Given the description of an element on the screen output the (x, y) to click on. 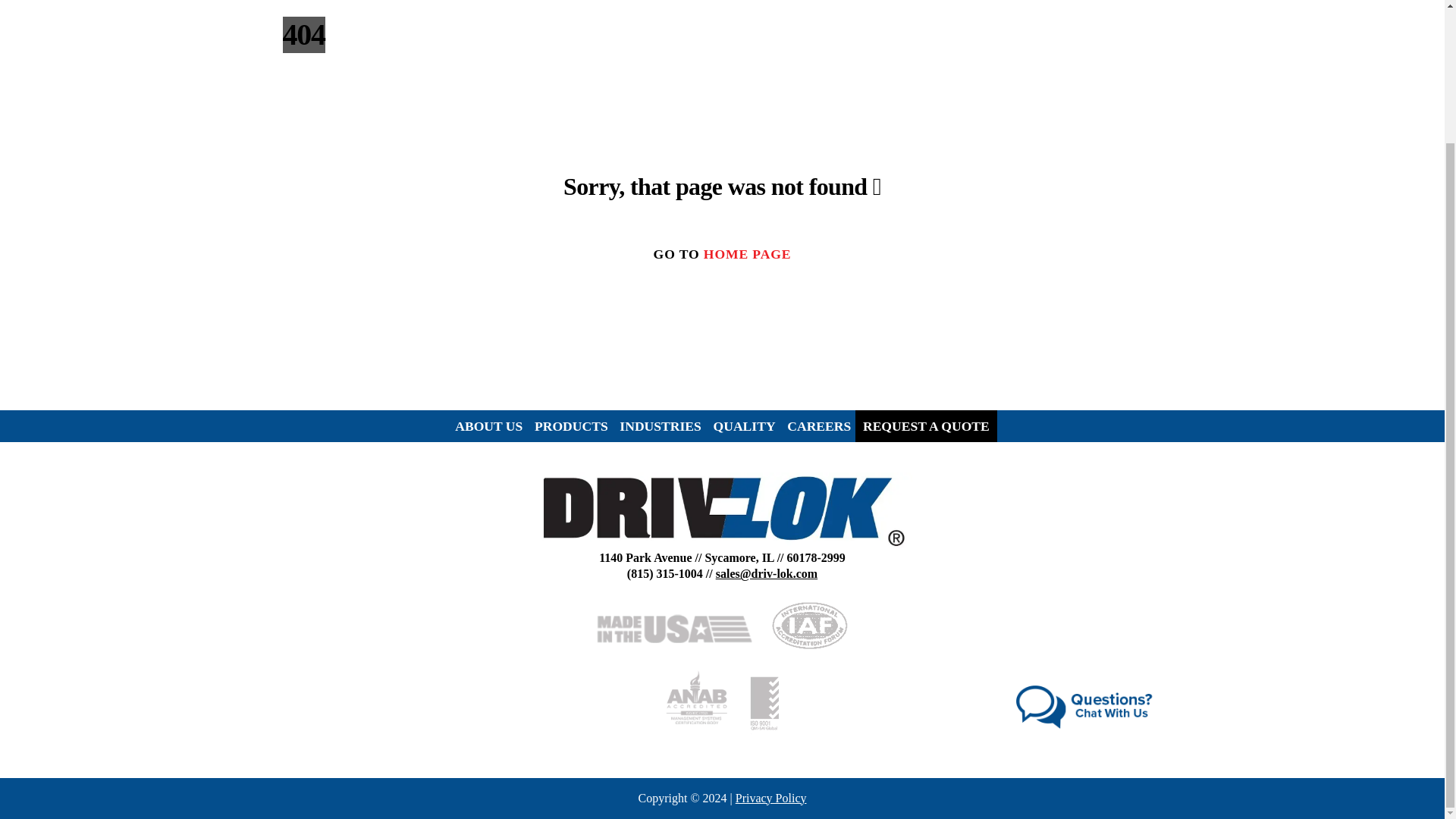
404 (721, 511)
ABOUT USPRODUCTSINDUSTRIESQUALITYCAREERSREQUEST A QUOTE (722, 426)
404 (1085, 706)
